Given the description of an element on the screen output the (x, y) to click on. 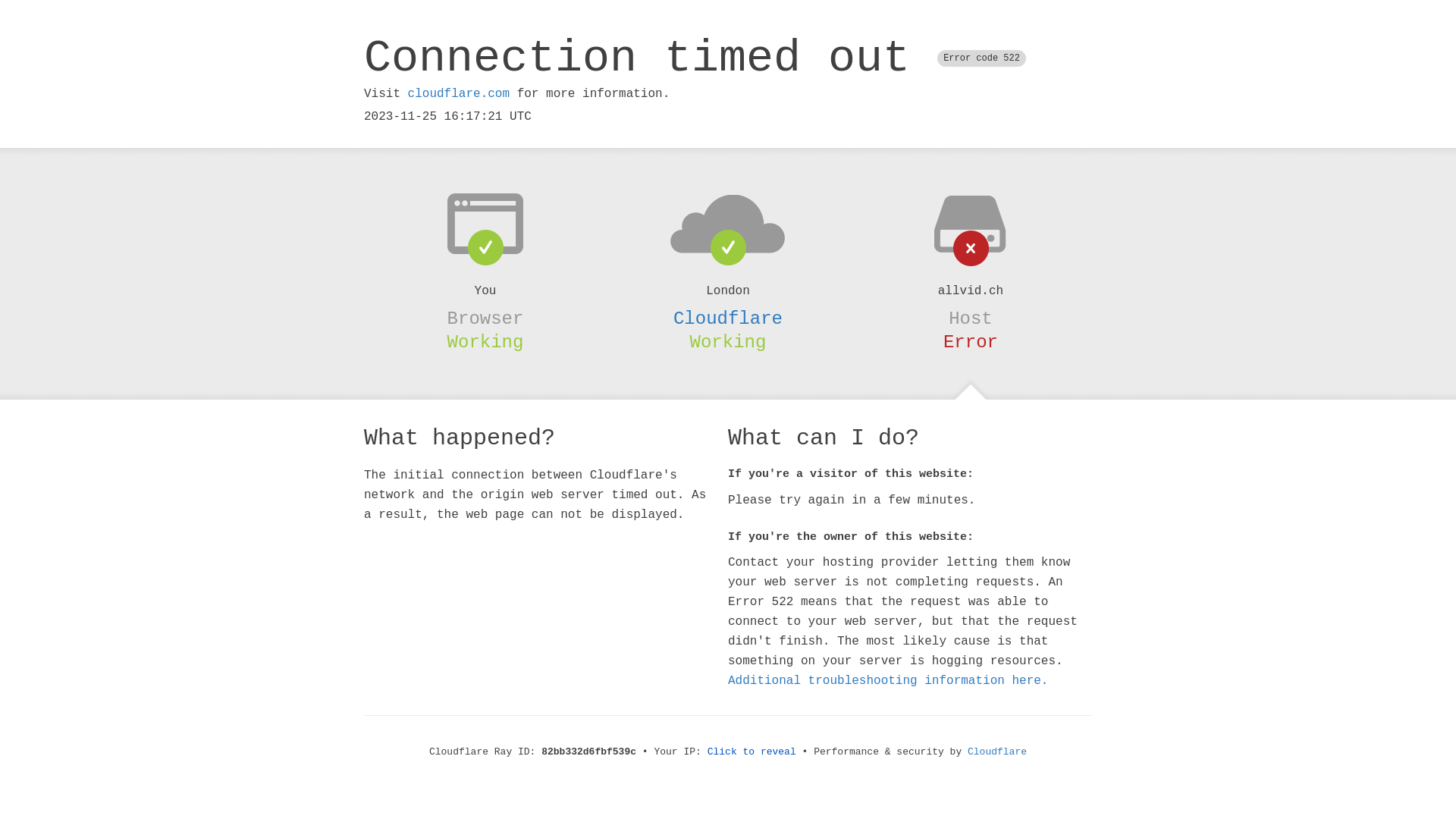
Click to reveal Element type: text (751, 751)
Additional troubleshooting information here. Element type: text (888, 680)
Cloudflare Element type: text (727, 318)
Cloudflare Element type: text (996, 751)
cloudflare.com Element type: text (458, 93)
